Given the description of an element on the screen output the (x, y) to click on. 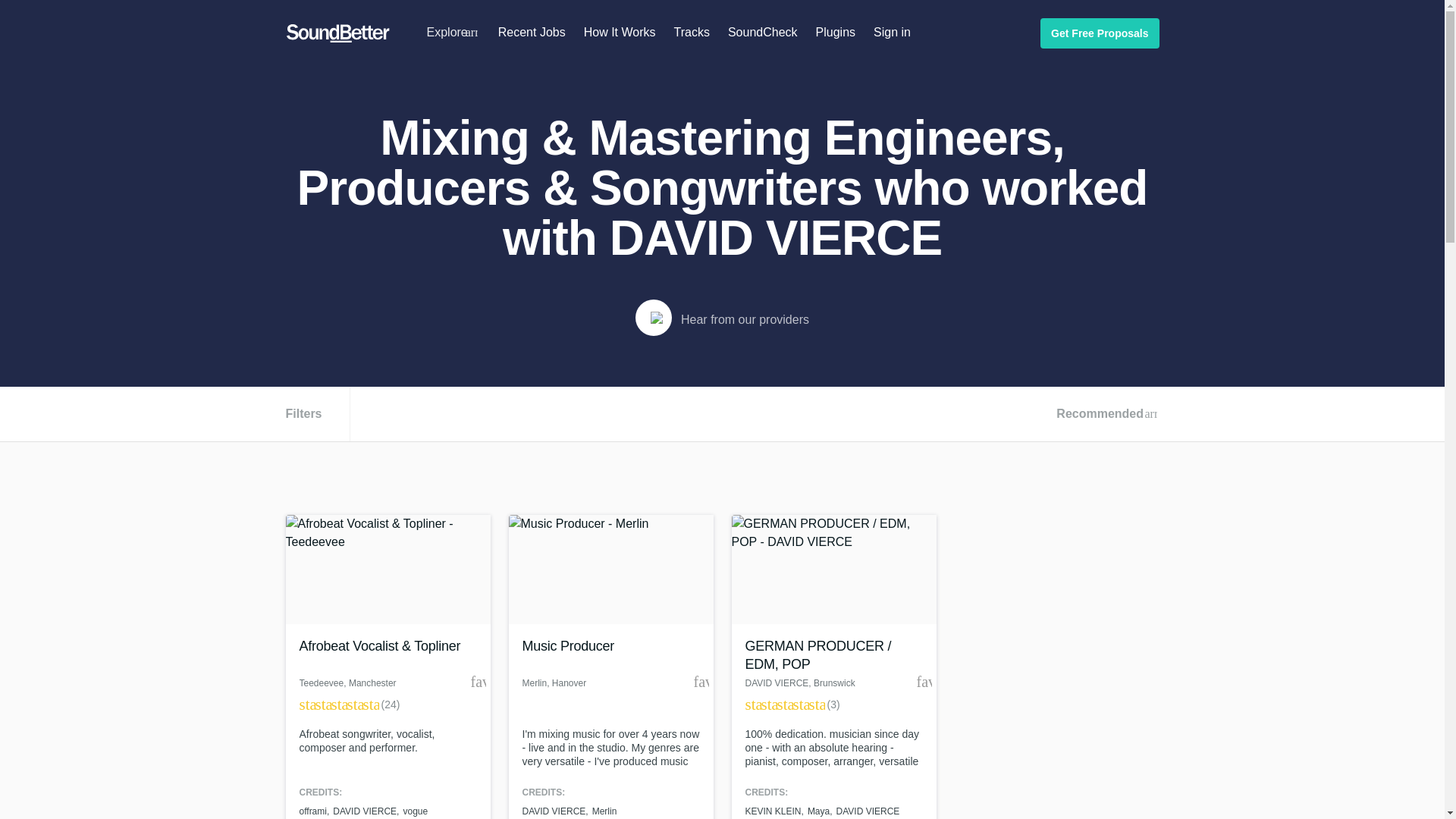
Add to favorites (923, 681)
SoundBetter (337, 33)
Add to favorites (700, 681)
Add to favorites (477, 681)
